Given the description of an element on the screen output the (x, y) to click on. 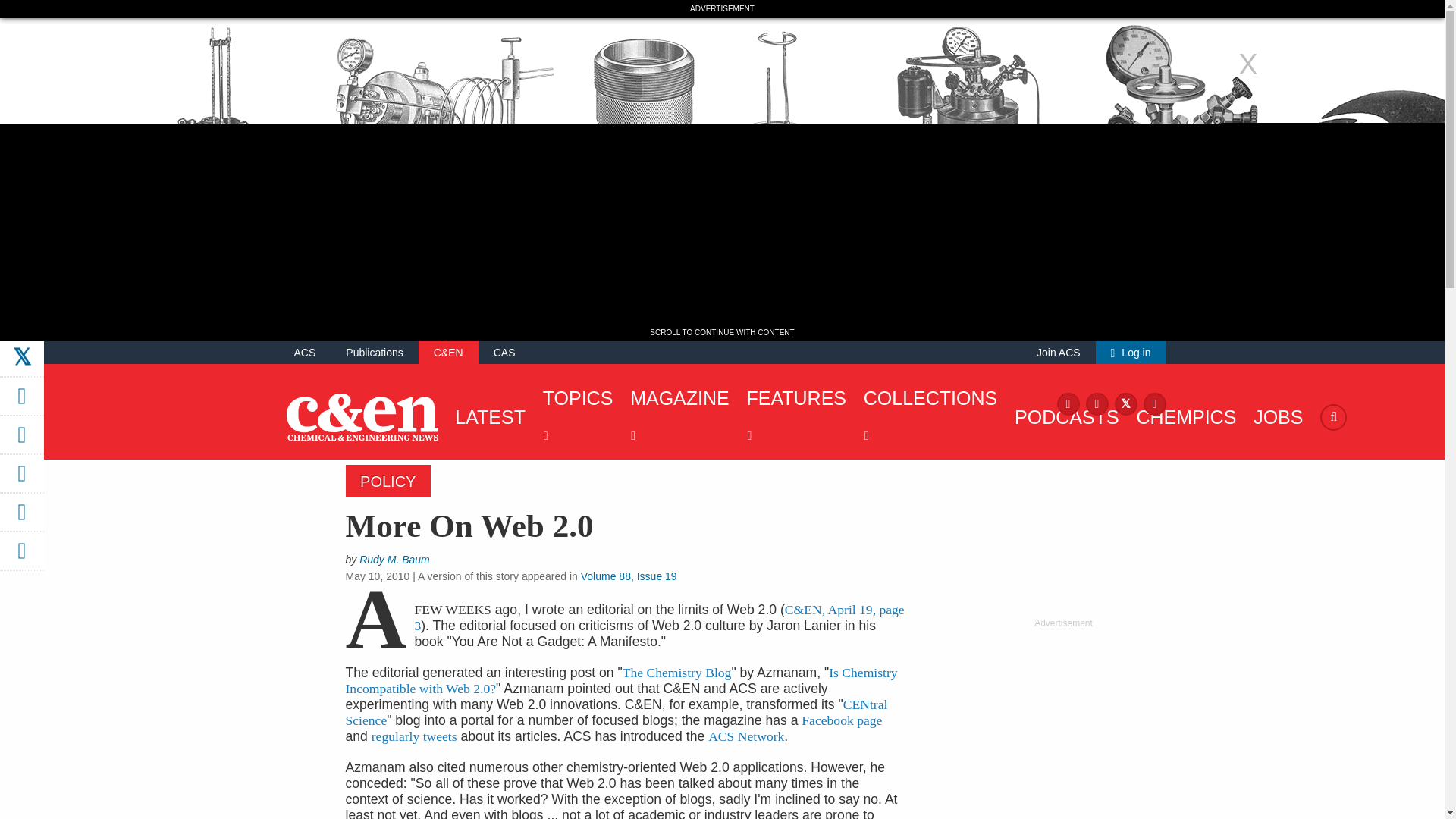
Join ACS (1058, 352)
TOPICS (573, 417)
Publications (374, 352)
Log in (1130, 352)
LATEST (485, 416)
3rd party ad content (1062, 724)
X (1126, 402)
ACS (304, 352)
Facebook (1068, 402)
